Given the description of an element on the screen output the (x, y) to click on. 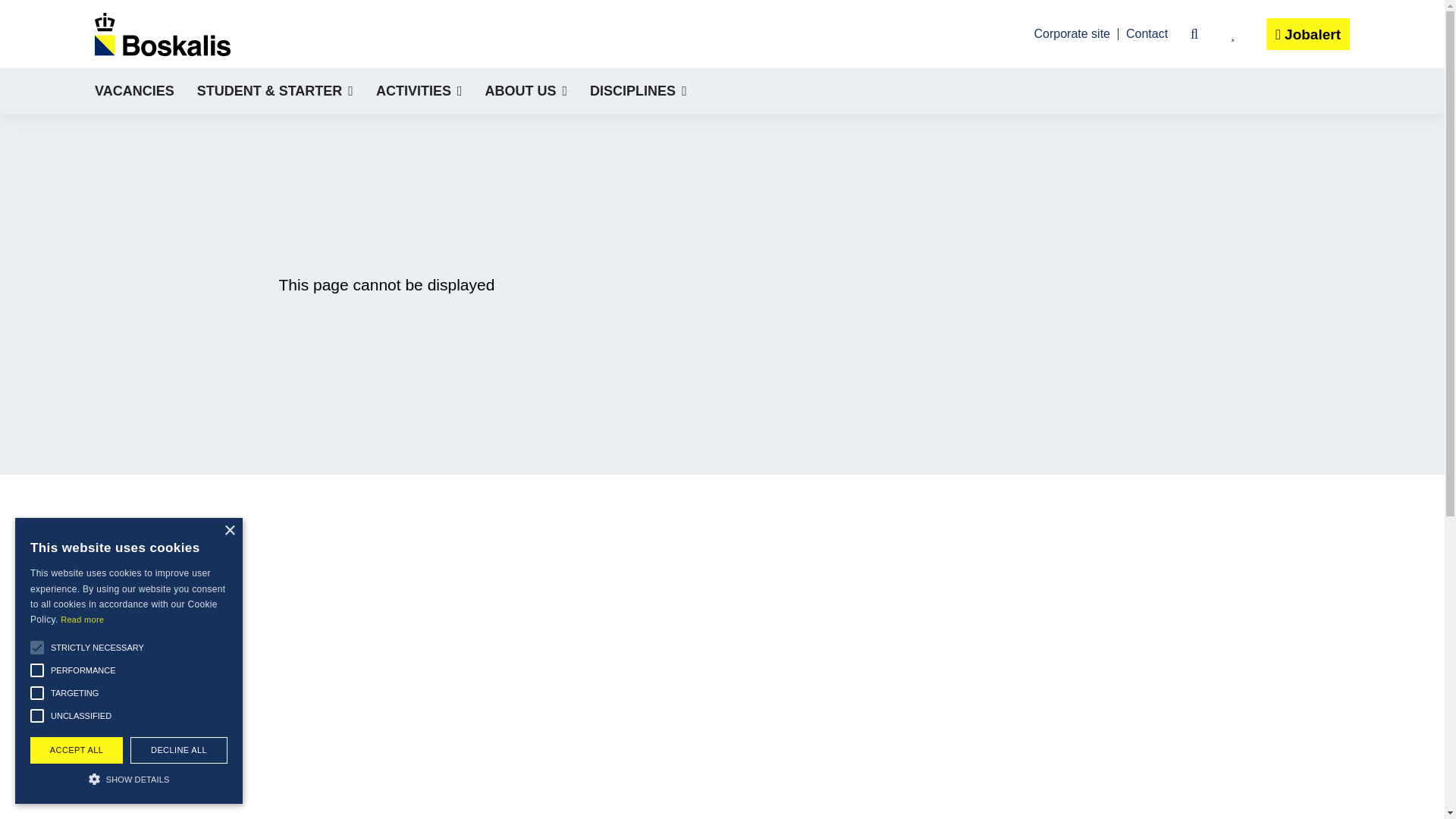
Vacancies (134, 90)
ABOUT US (525, 90)
Go to homepage (162, 33)
ACTIVITIES (419, 90)
Corporate site (1071, 33)
DISCIPLINES (638, 90)
Activities (419, 90)
About us (525, 90)
Contact (1146, 33)
VACANCIES (134, 90)
Corporate site (1071, 33)
Contact (1146, 33)
0 (1231, 34)
Jobalert (1307, 33)
